Given the description of an element on the screen output the (x, y) to click on. 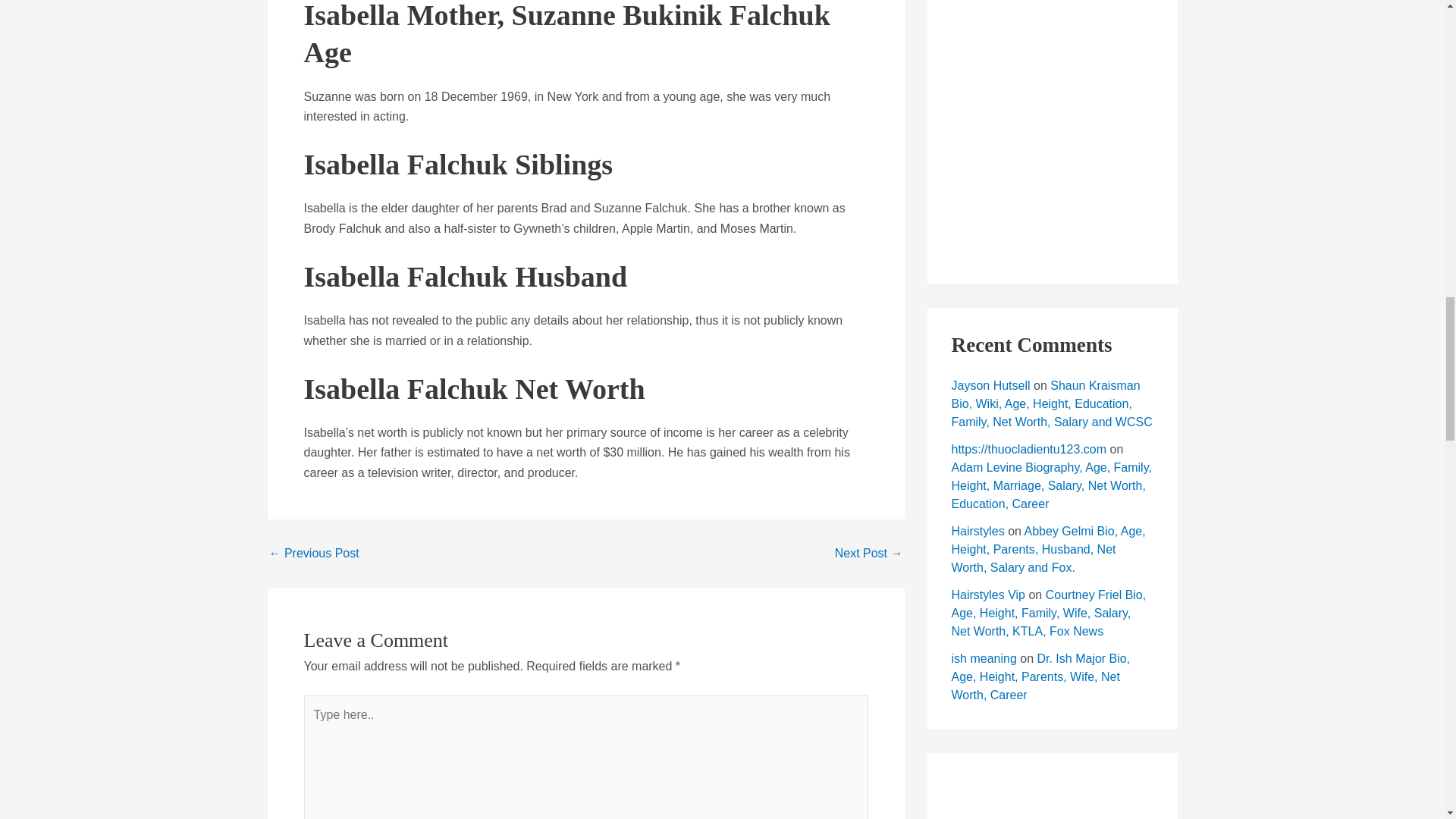
Hairstyles (977, 530)
Hairstyles Vip (987, 594)
Jayson Hutsell (989, 385)
ish meaning (983, 658)
